Given the description of an element on the screen output the (x, y) to click on. 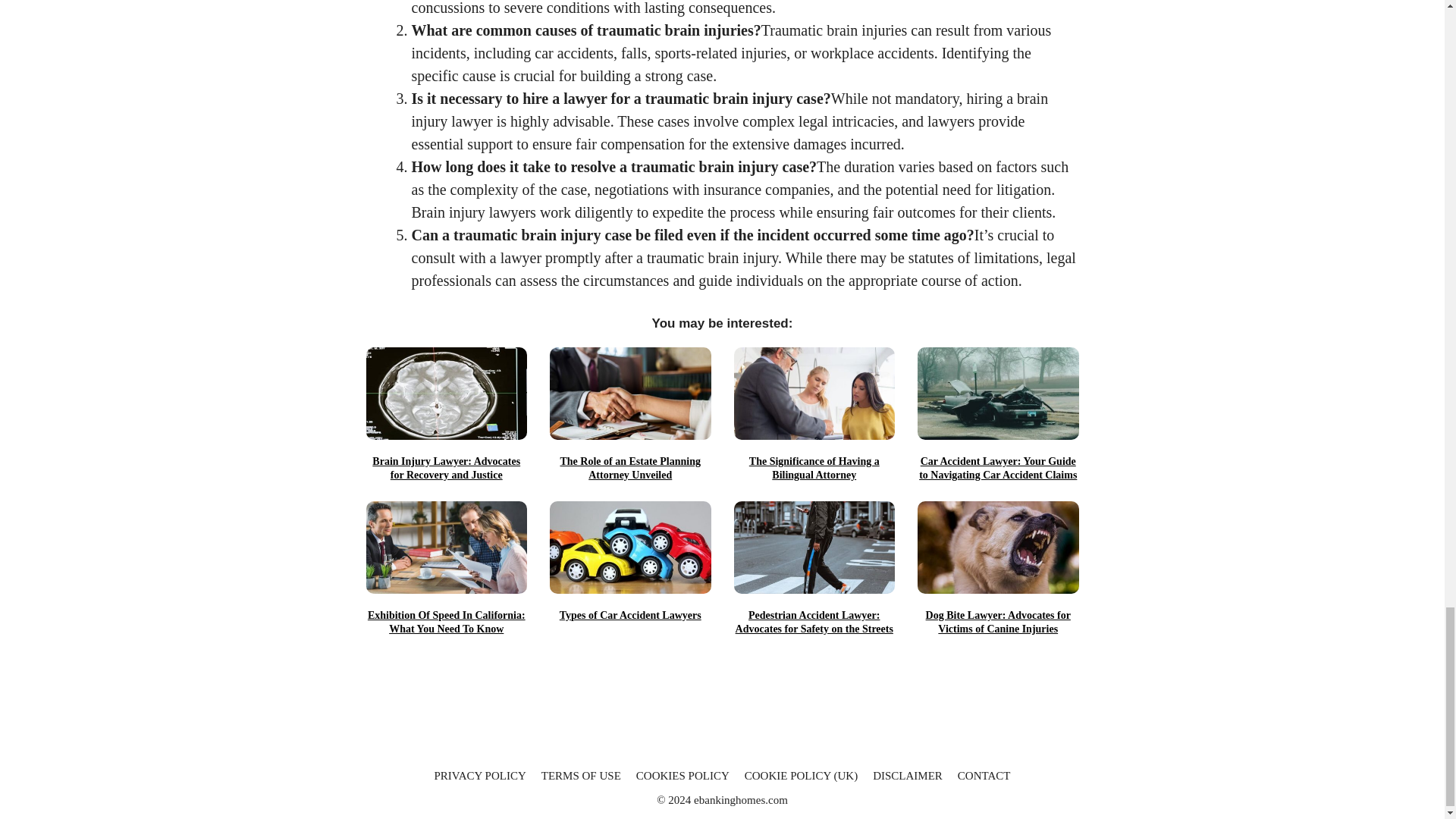
CONTACT (984, 775)
COOKIES POLICY (682, 775)
DISCLAIMER (907, 775)
PRIVACY POLICY (479, 775)
TERMS OF USE (581, 775)
Exhibition Of Speed In California: What You Need To Know (446, 622)
The Significance of Having a Bilingual Attorney (814, 468)
Brain Injury Lawyer: Advocates for Recovery and Justice (446, 468)
Dog Bite Lawyer: Advocates for Victims of Canine Injuries (997, 622)
The Role of an Estate Planning Attorney Unveiled (630, 468)
Types of Car Accident Lawyers (630, 615)
